Given the description of an element on the screen output the (x, y) to click on. 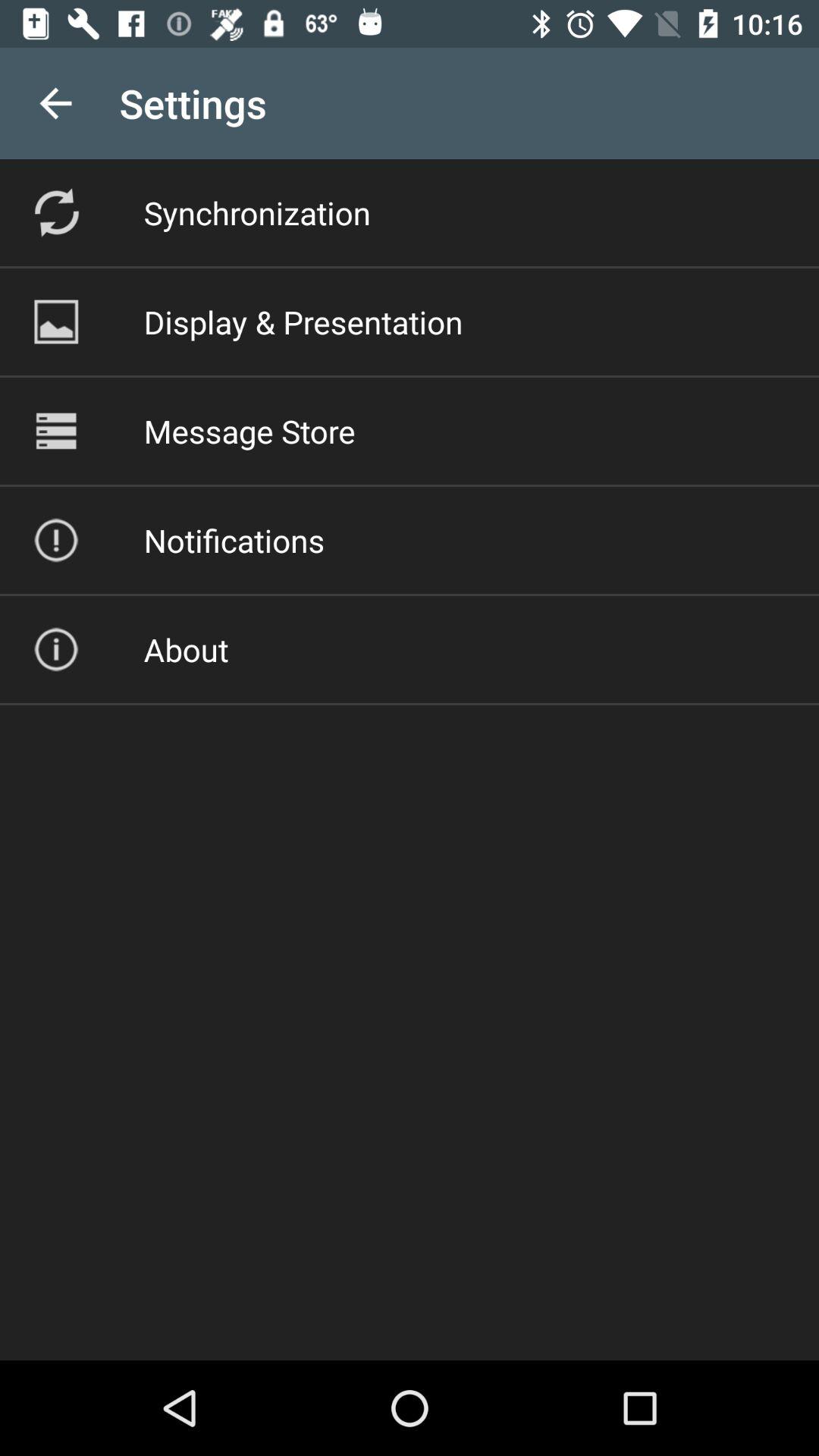
turn off item below notifications icon (185, 649)
